Given the description of an element on the screen output the (x, y) to click on. 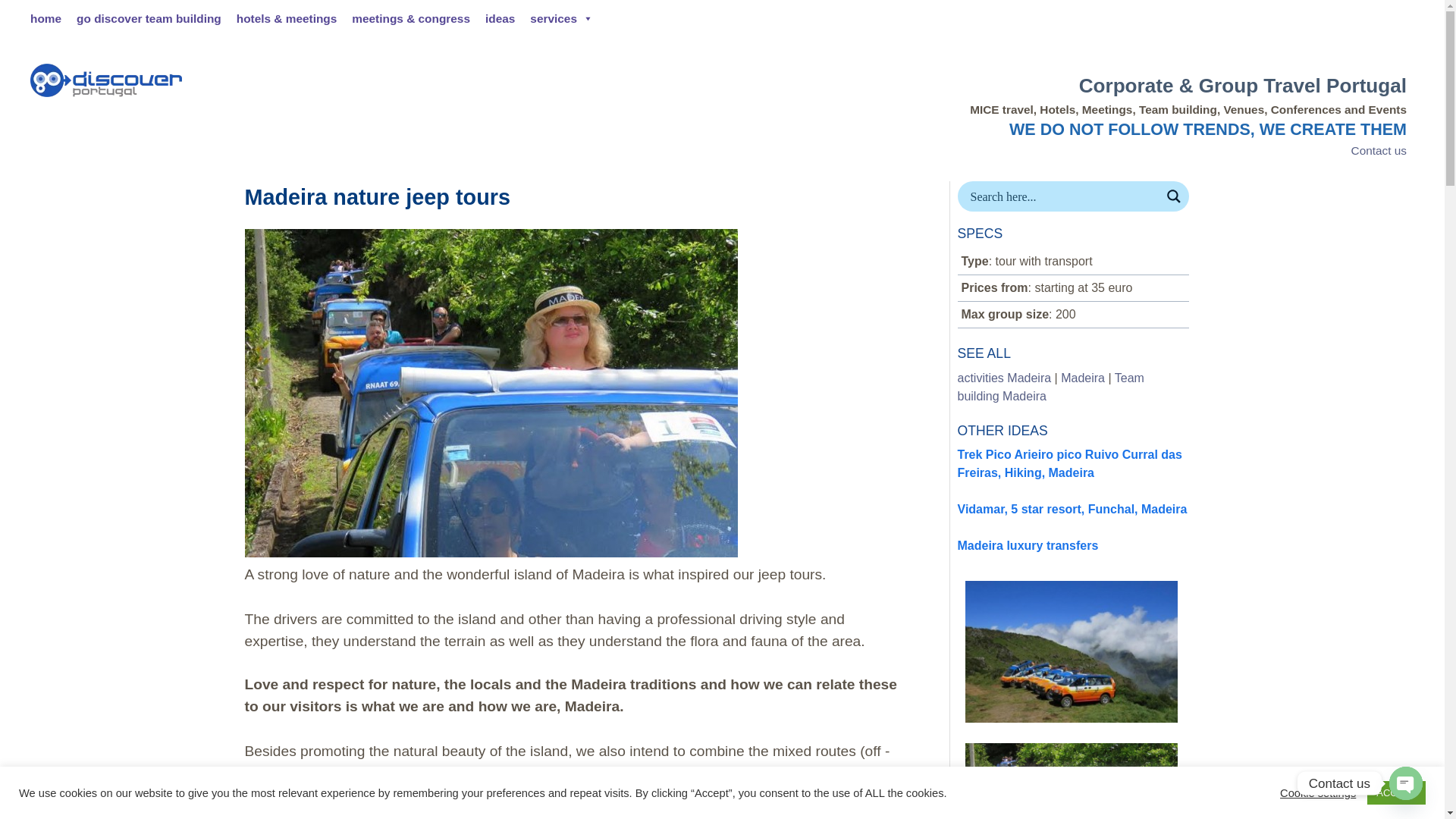
Go Discover Portugal Travel Logo (106, 80)
activities Madeira (1003, 377)
Madeira luxury transfers (1026, 545)
Madeira (1083, 377)
Vidamar, 5 star resort, Funchal, Madeira (1071, 508)
services (560, 18)
Madeira luxury transfers (1026, 545)
Vidamar, 5 star resort, Funchal, Madeira (1071, 508)
Contact us (1378, 150)
home (45, 18)
Meetings and congress in Portugal (410, 18)
Team building Madeira (1049, 386)
ideas (499, 18)
